Given the description of an element on the screen output the (x, y) to click on. 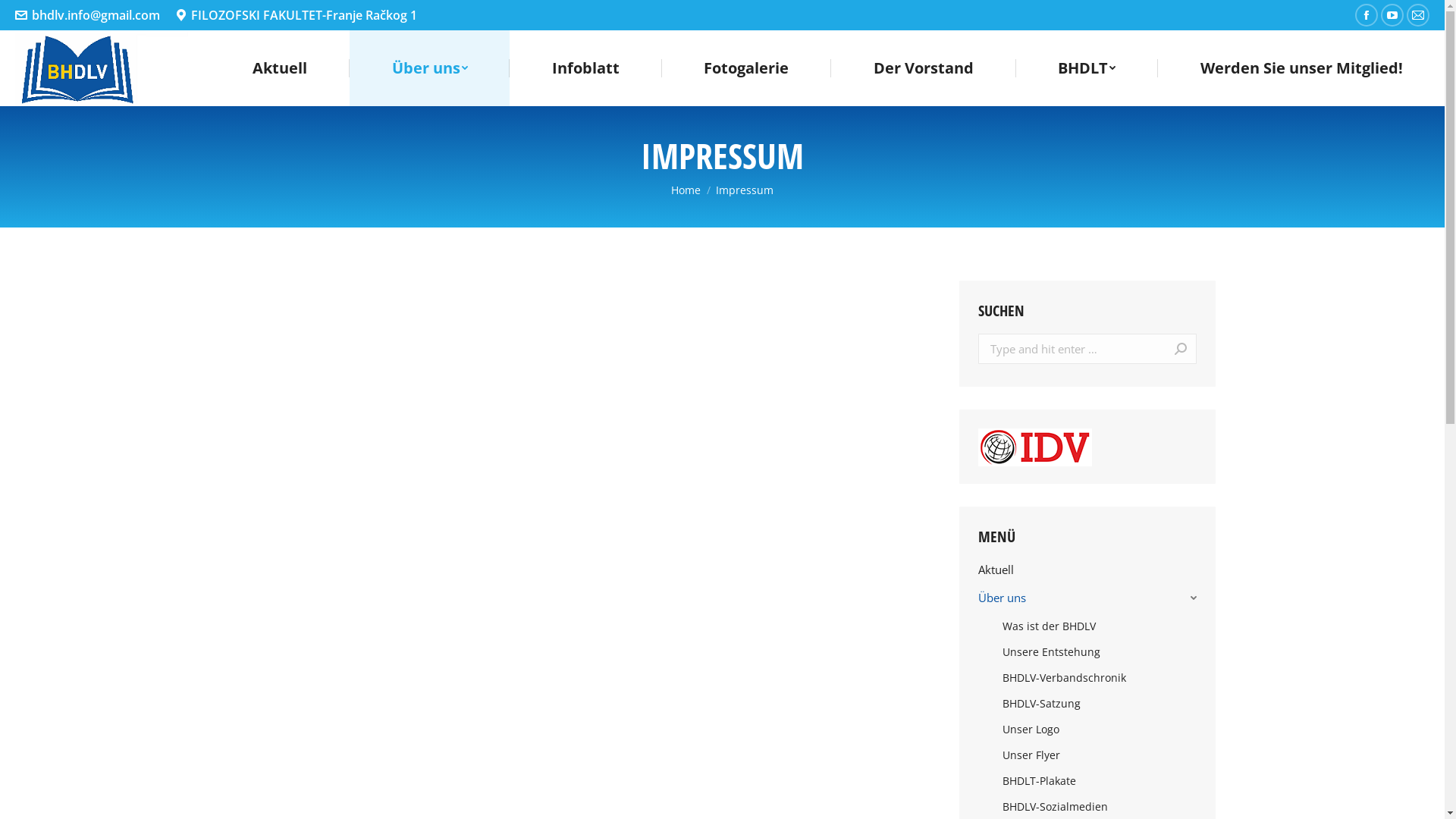
Infoblatt Element type: text (585, 68)
Fotogalerie Element type: text (746, 68)
Was ist der BHDLV Element type: text (1044, 625)
BHDLT Element type: text (1086, 68)
BHDLV-Satzung Element type: text (1036, 703)
Werden Sie unser Mitglied! Element type: text (1301, 68)
Home Element type: text (685, 189)
Aktuell Element type: text (1087, 573)
BHDLV-Verbandschronik Element type: text (1059, 677)
Unser Flyer Element type: text (1026, 754)
Der Vorstand Element type: text (923, 68)
BHDLT-Plakate Element type: text (1034, 780)
Go! Element type: text (1164, 348)
Mail page opens in new window Element type: text (1417, 14)
BHDLV-Sozialmedien Element type: text (1050, 806)
Facebook page opens in new window Element type: text (1366, 14)
Aktuell Element type: text (279, 68)
Unsere Entstehung Element type: text (1046, 651)
Unser Logo Element type: text (1026, 728)
YouTube page opens in new window Element type: text (1391, 14)
